Given the description of an element on the screen output the (x, y) to click on. 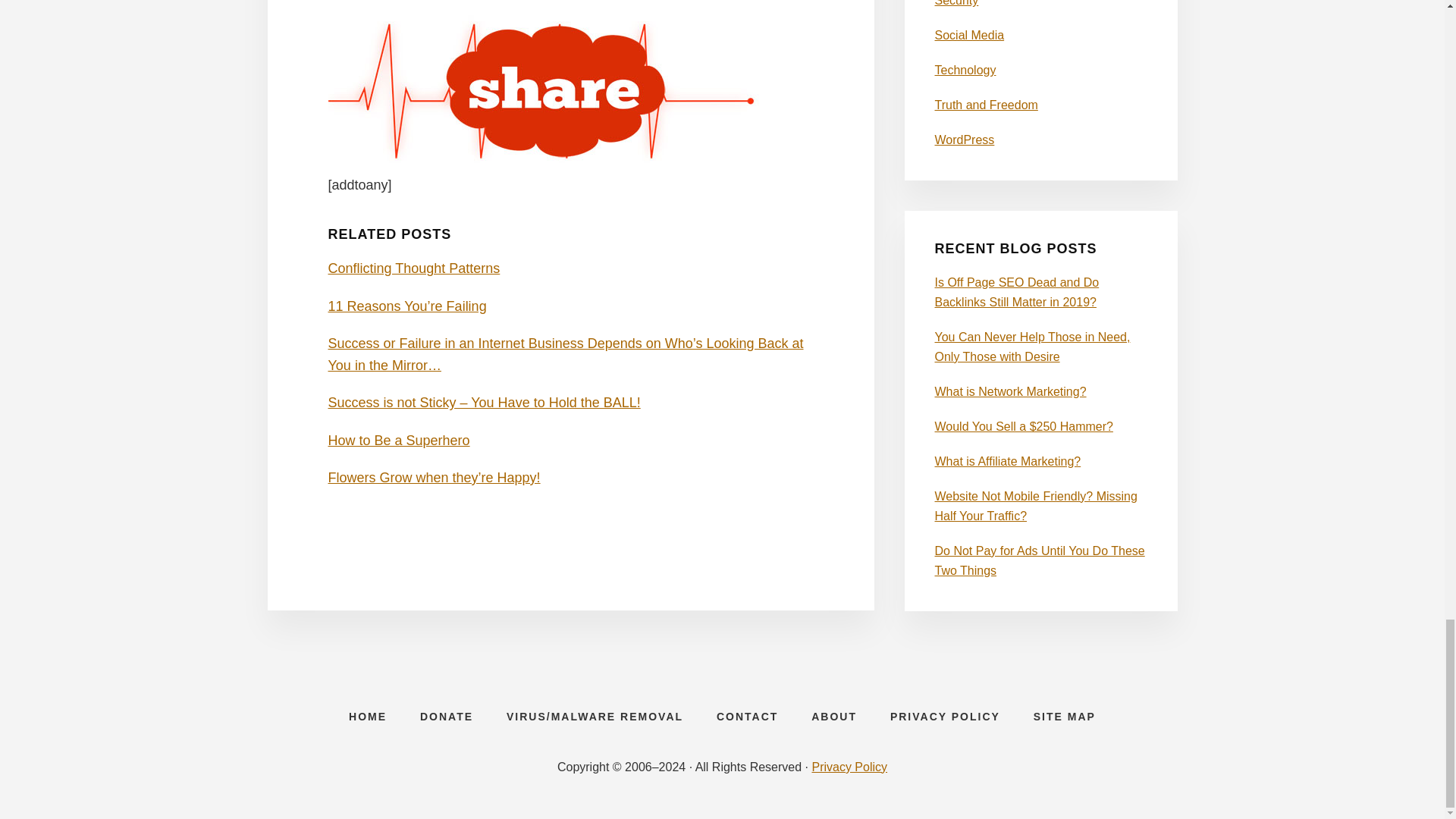
Conflicting Thought Patterns (413, 268)
How to Be a Superhero (397, 440)
